Given the description of an element on the screen output the (x, y) to click on. 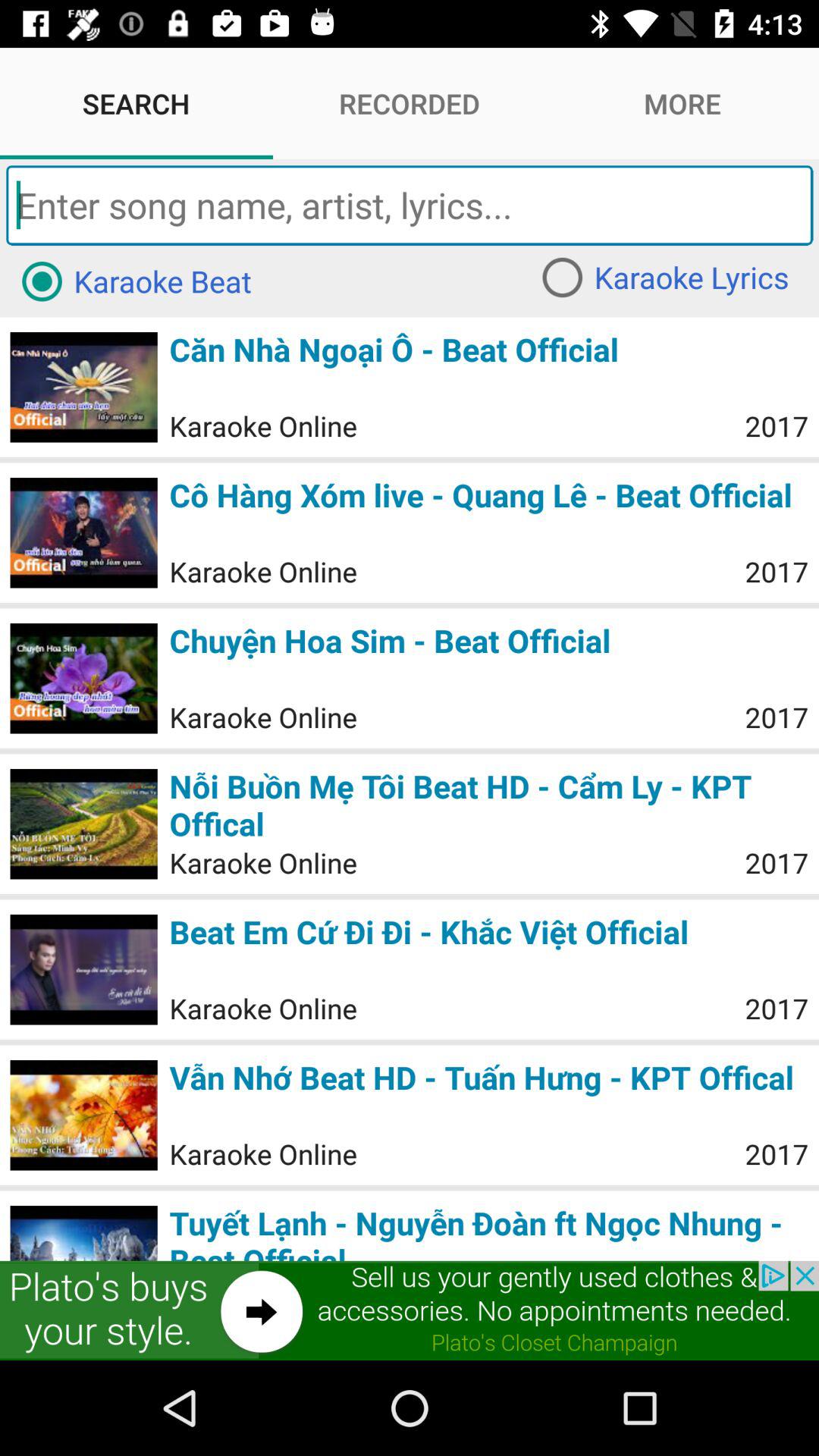
go to advertisement (409, 1310)
